Given the description of an element on the screen output the (x, y) to click on. 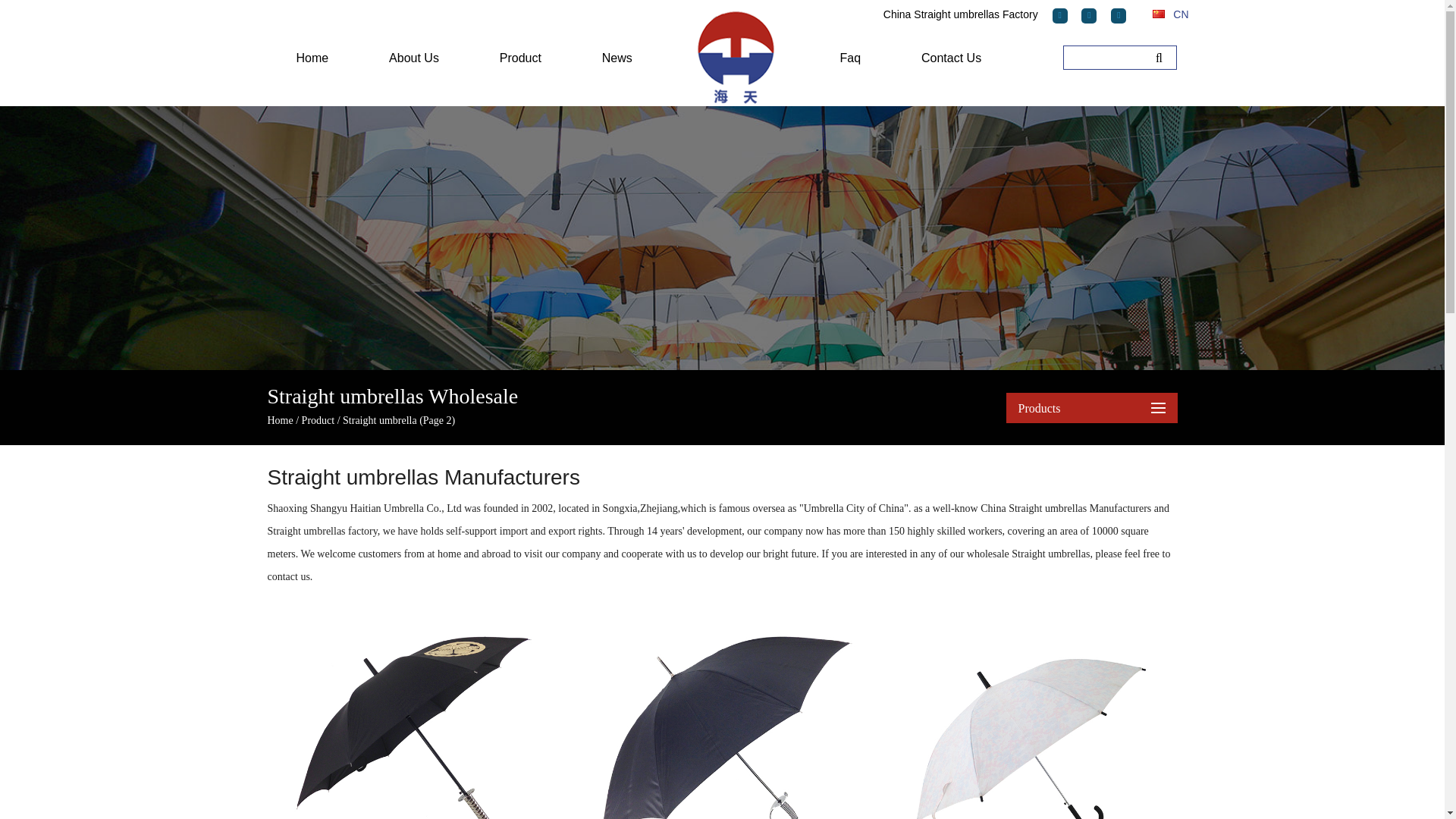
Shaoxing Shangyu Haitian Umbrella Co., Ltd (363, 508)
China Straight umbrellas Manufacturers (1065, 508)
Straight umbrellas factory (321, 531)
wholesale Straight umbrellas (1028, 553)
China Straight umbrellas Factory (960, 14)
Contact Us (951, 57)
Product (317, 419)
Home (279, 419)
CN (1170, 14)
About Us (413, 57)
Product (520, 57)
